Given the description of an element on the screen output the (x, y) to click on. 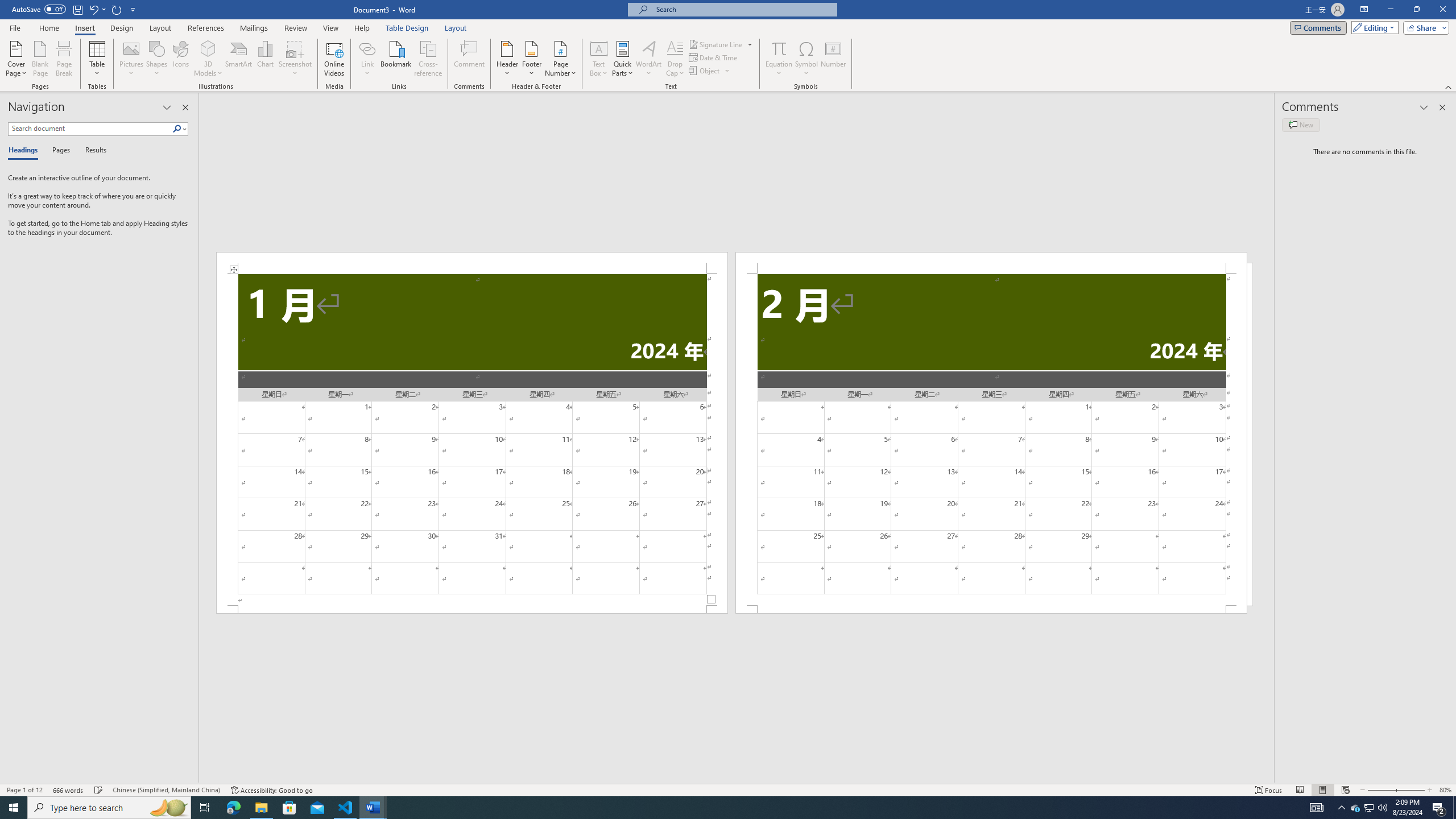
References (205, 28)
Footer -Section 2- (991, 609)
Quick Access Toolbar (74, 9)
Design (122, 28)
Class: MsoCommandBar (728, 789)
Screenshot (295, 58)
Read Mode (1299, 790)
Restore Down (1416, 9)
